Given the description of an element on the screen output the (x, y) to click on. 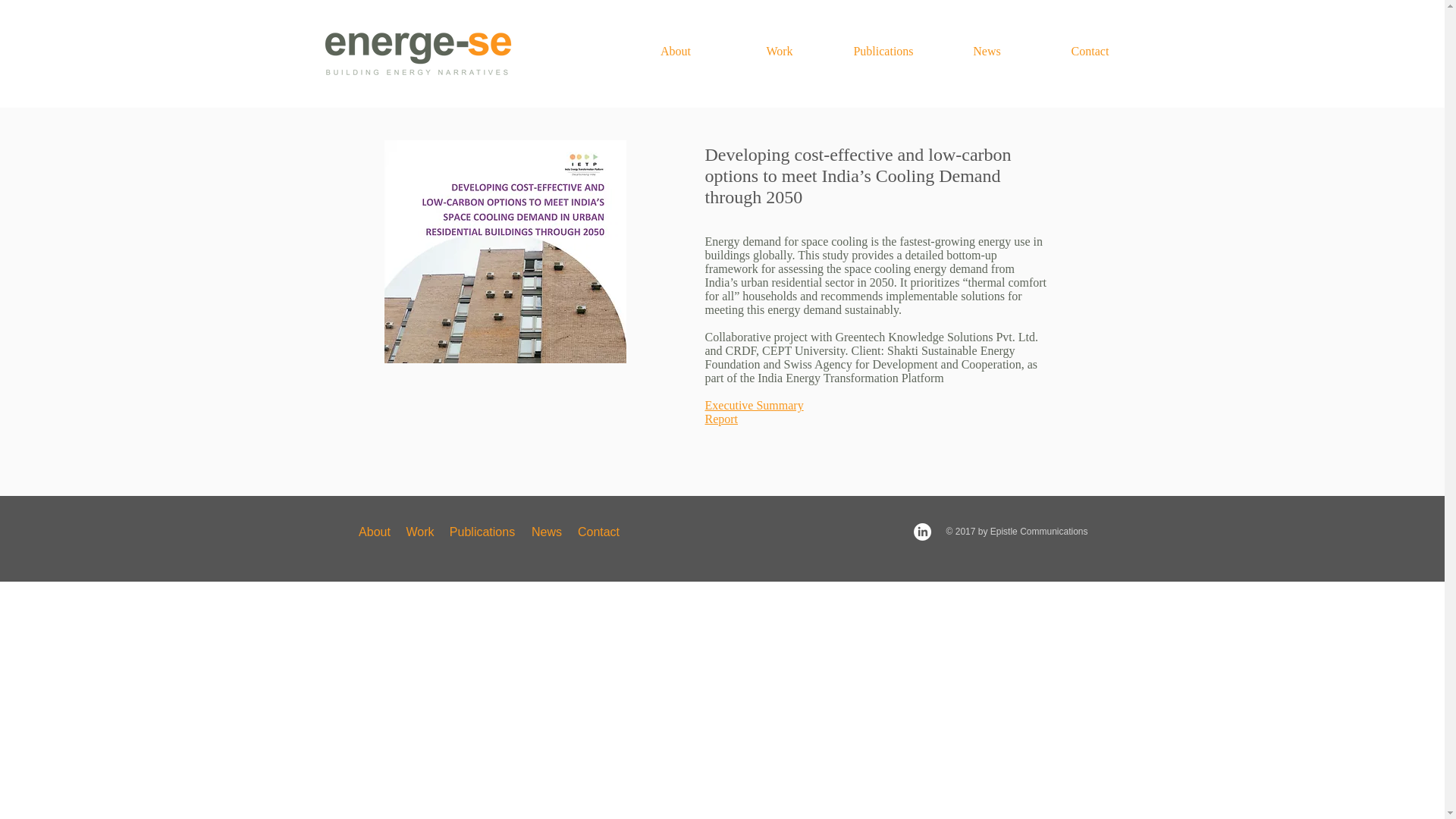
About (674, 51)
Work (419, 531)
Executive Summary (753, 404)
About (373, 531)
Work (779, 51)
News (987, 51)
News (545, 531)
Publications (882, 51)
Publications (482, 531)
Report (721, 418)
